Given the description of an element on the screen output the (x, y) to click on. 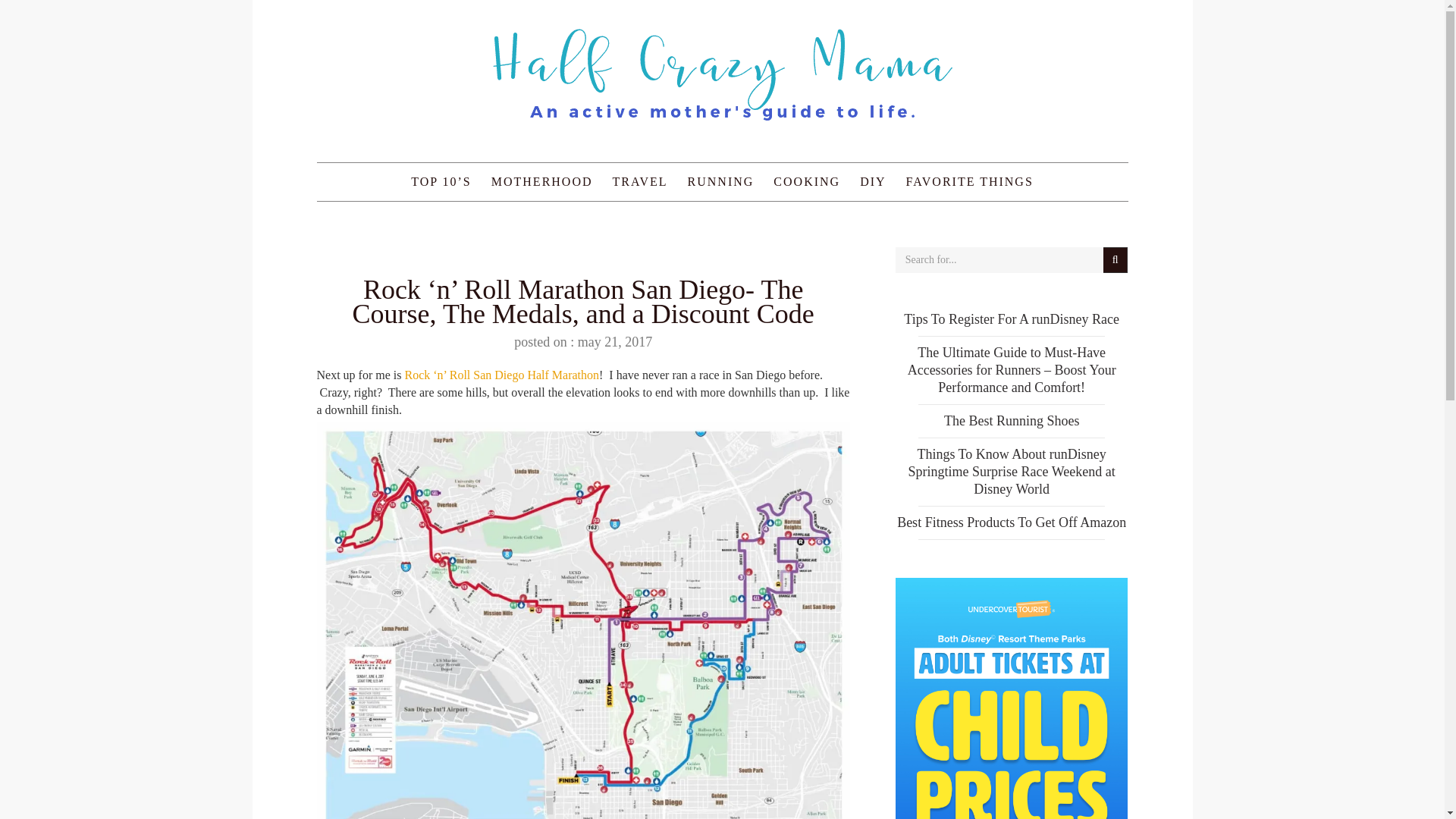
Tips To Register For A runDisney Race (1011, 319)
Best Fitness Products To Get Off Amazon (1010, 522)
The Best Running Shoes (1011, 420)
MOTHERHOOD (541, 181)
COOKING (806, 181)
FAVORITE THINGS (969, 181)
DIY (872, 181)
RUNNING (721, 181)
TRAVEL (640, 181)
posted on : may 21, 2017 (582, 341)
